Given the description of an element on the screen output the (x, y) to click on. 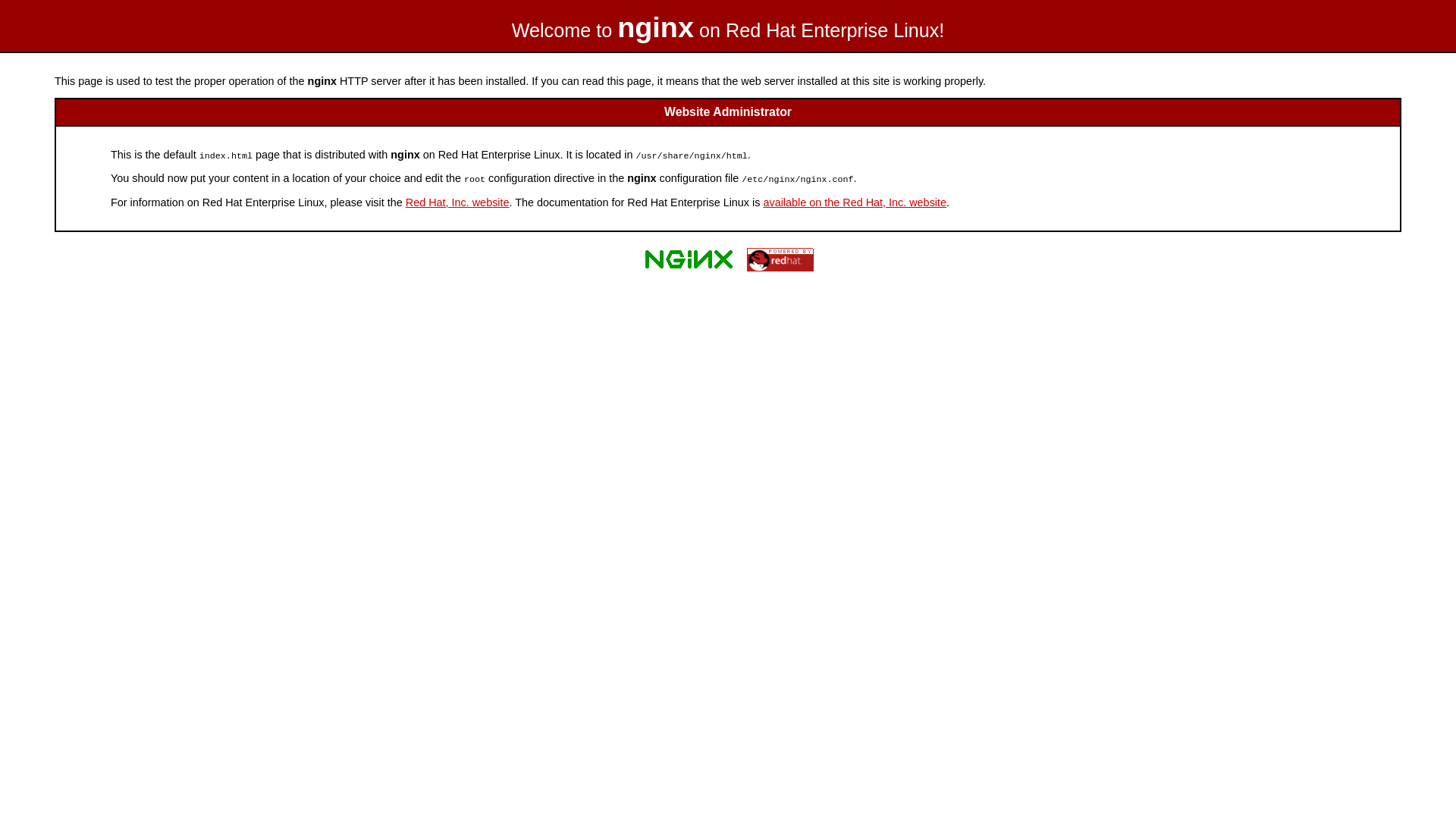
available on the Red Hat, Inc. website Element type: text (854, 202)
Red Hat, Inc. website Element type: text (457, 202)
